Given the description of an element on the screen output the (x, y) to click on. 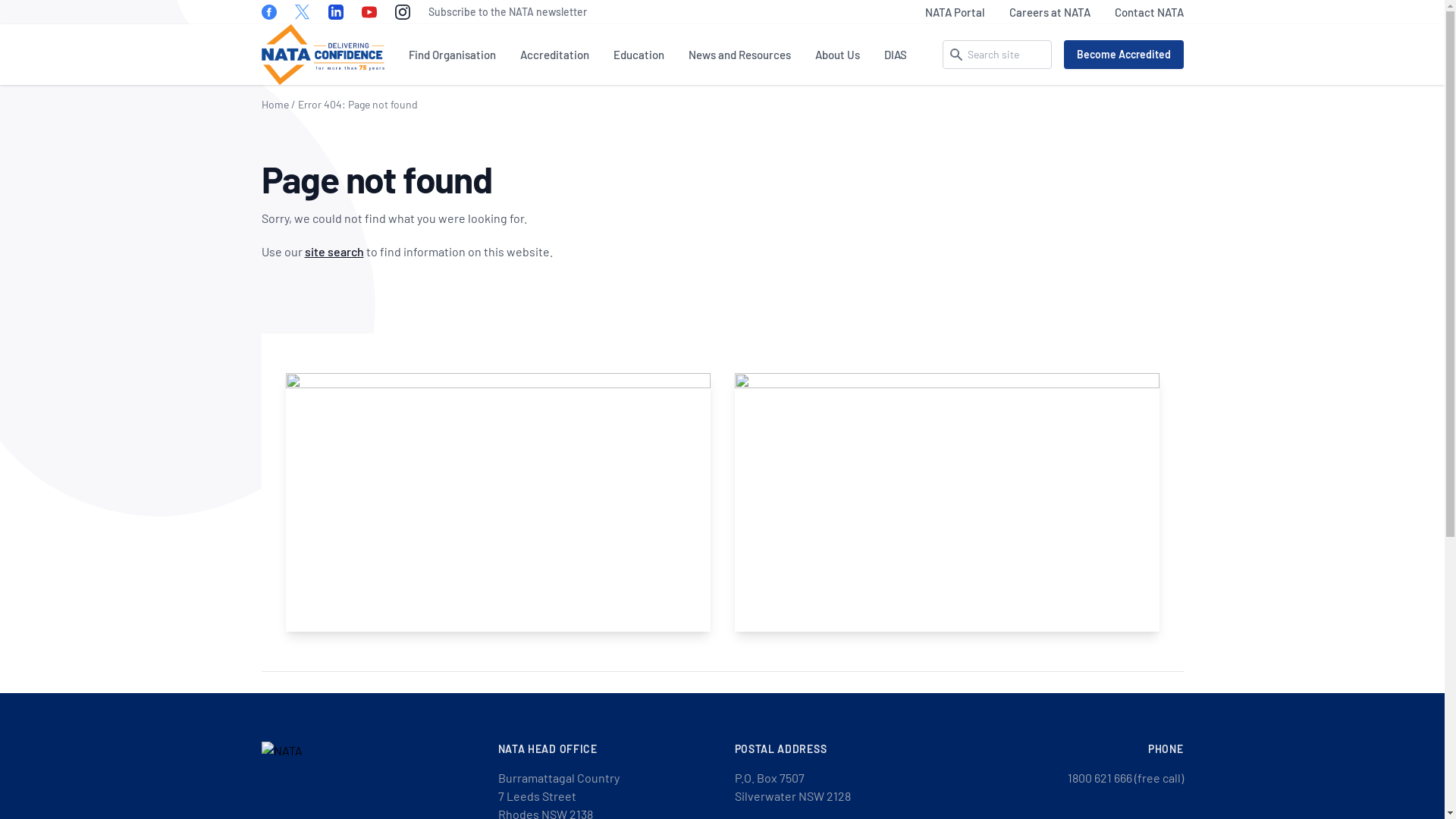
Become Accredited Element type: text (1123, 54)
site search Element type: text (334, 251)
Search for: Element type: hover (996, 54)
Find Organisation Element type: text (451, 54)
Education Element type: text (638, 54)
News and Resources Element type: text (739, 54)
Home Element type: text (274, 103)
Facebook Element type: text (268, 11)
About Us Element type: text (837, 54)
Youtube Element type: text (368, 11)
Subscribe to the NATA newsletter Element type: text (506, 11)
Twitter Element type: text (301, 11)
DIAS Element type: text (895, 54)
Linkedin Element type: text (334, 11)
Instagram Element type: text (401, 11)
NATA Portal Element type: text (955, 12)
Accreditation Element type: text (554, 54)
Contact NATA Element type: text (1148, 12)
Careers at NATA Element type: text (1048, 12)
